Given the description of an element on the screen output the (x, y) to click on. 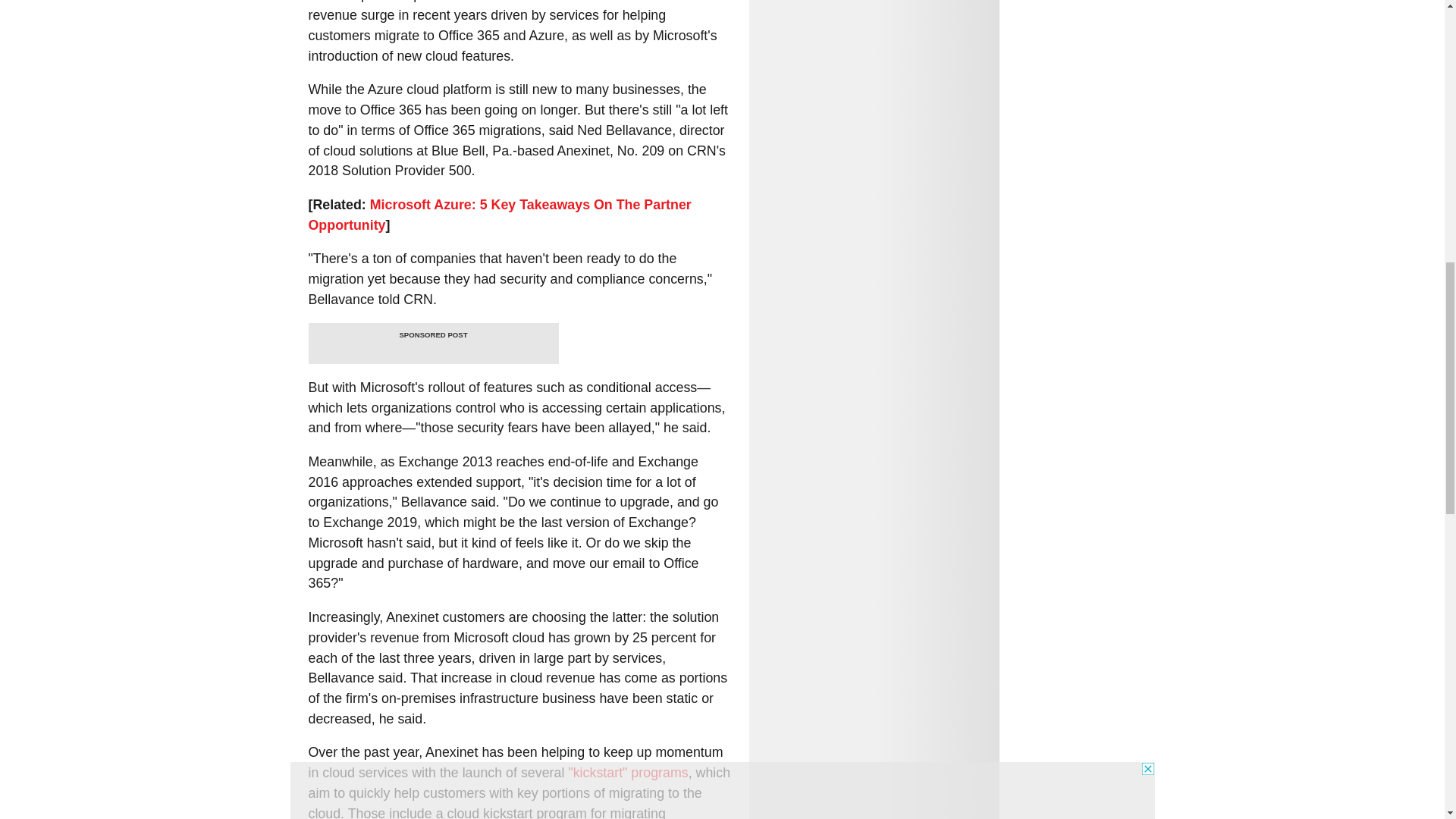
"kickstart" programs (627, 772)
Microsoft Azure: 5 Key Takeaways On The Partner Opportunity (498, 214)
"kickstart" programs (627, 772)
Microsoft Azure: 5 Key Takeaways On The Partner Opportunity (498, 214)
